Given the description of an element on the screen output the (x, y) to click on. 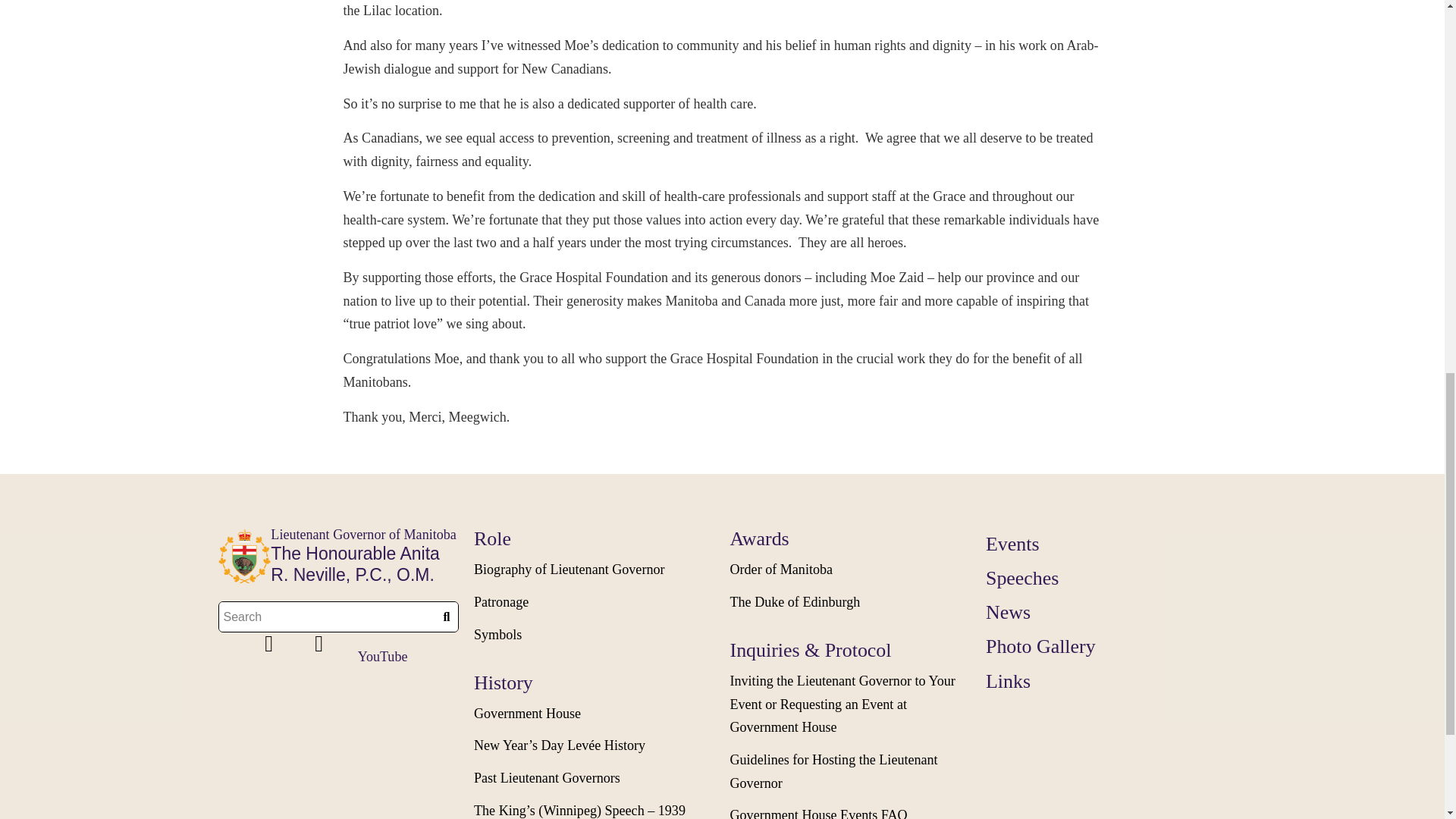
Search (326, 616)
